Given the description of an element on the screen output the (x, y) to click on. 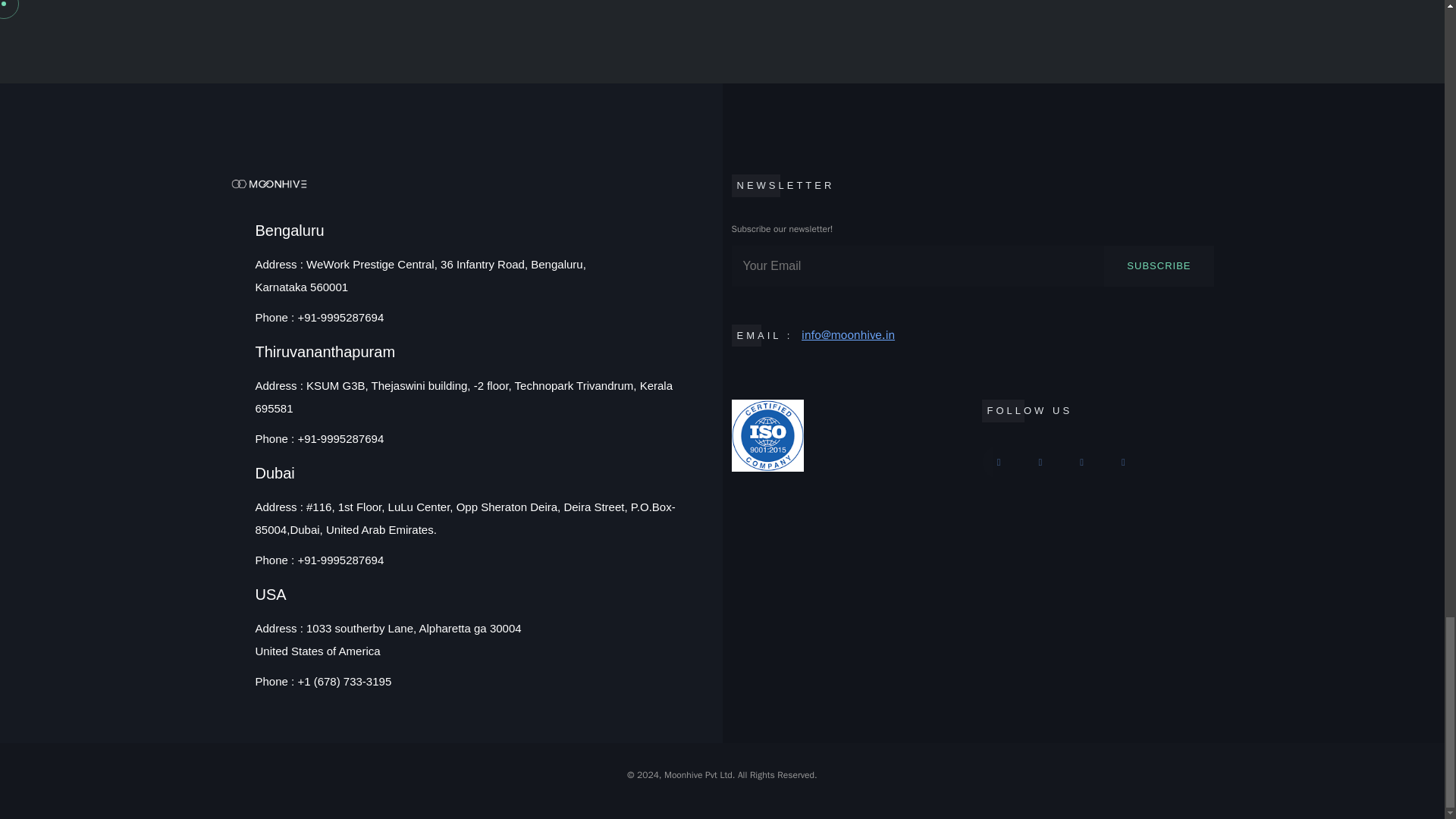
Moonhive Private Limited is ISO 9001:2015 Certified Company (846, 435)
